Given the description of an element on the screen output the (x, y) to click on. 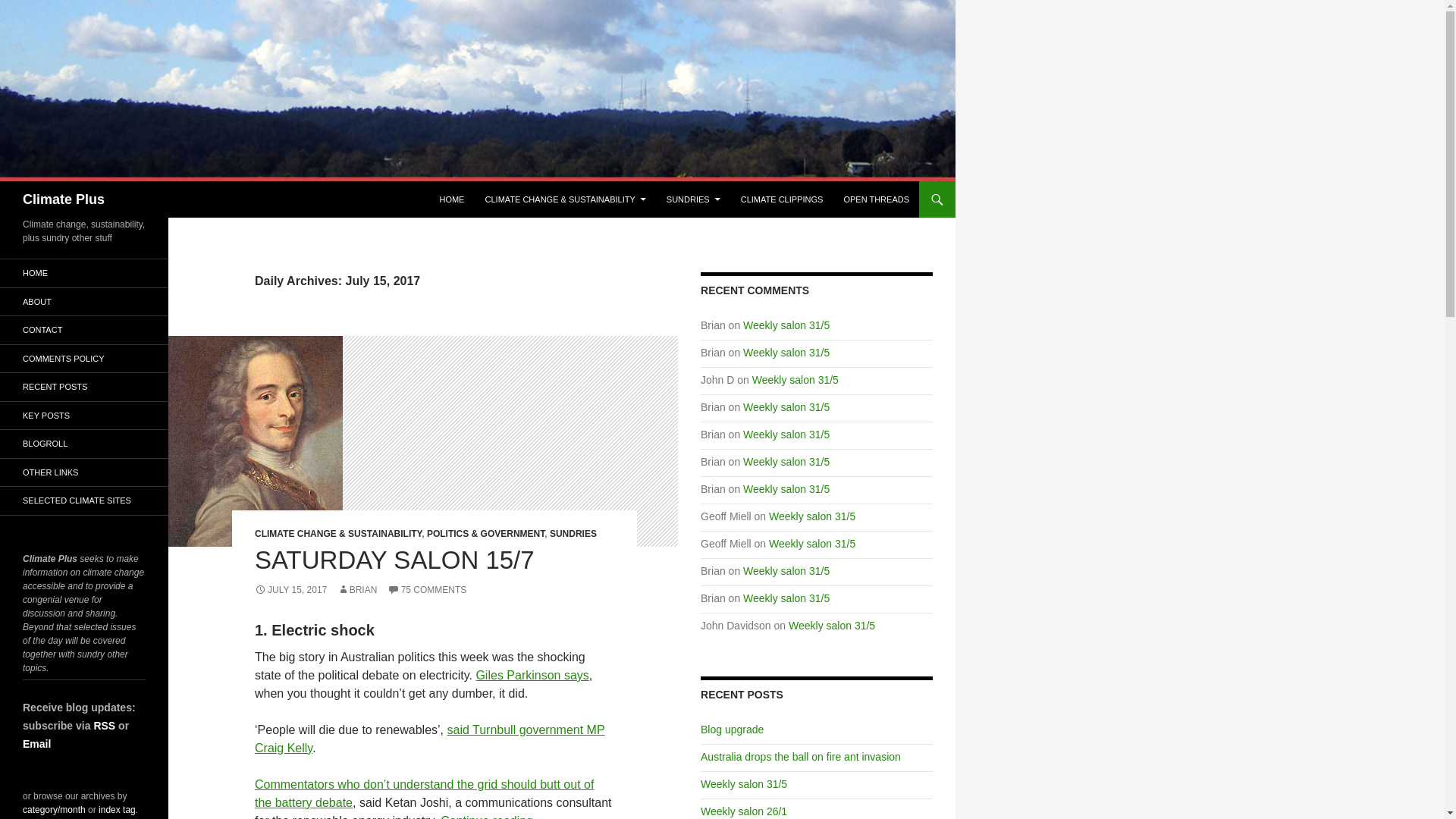
Discuss news, views and notable personal experiences! (876, 198)
said Turnbull government MP Craig Kelly (429, 738)
CLIMATE CLIPPINGS (782, 198)
OPEN THREADS (876, 198)
SUNDRIES (573, 533)
BRIAN (357, 589)
JULY 15, 2017 (290, 589)
Really Simple Syndication (104, 725)
